Given the description of an element on the screen output the (x, y) to click on. 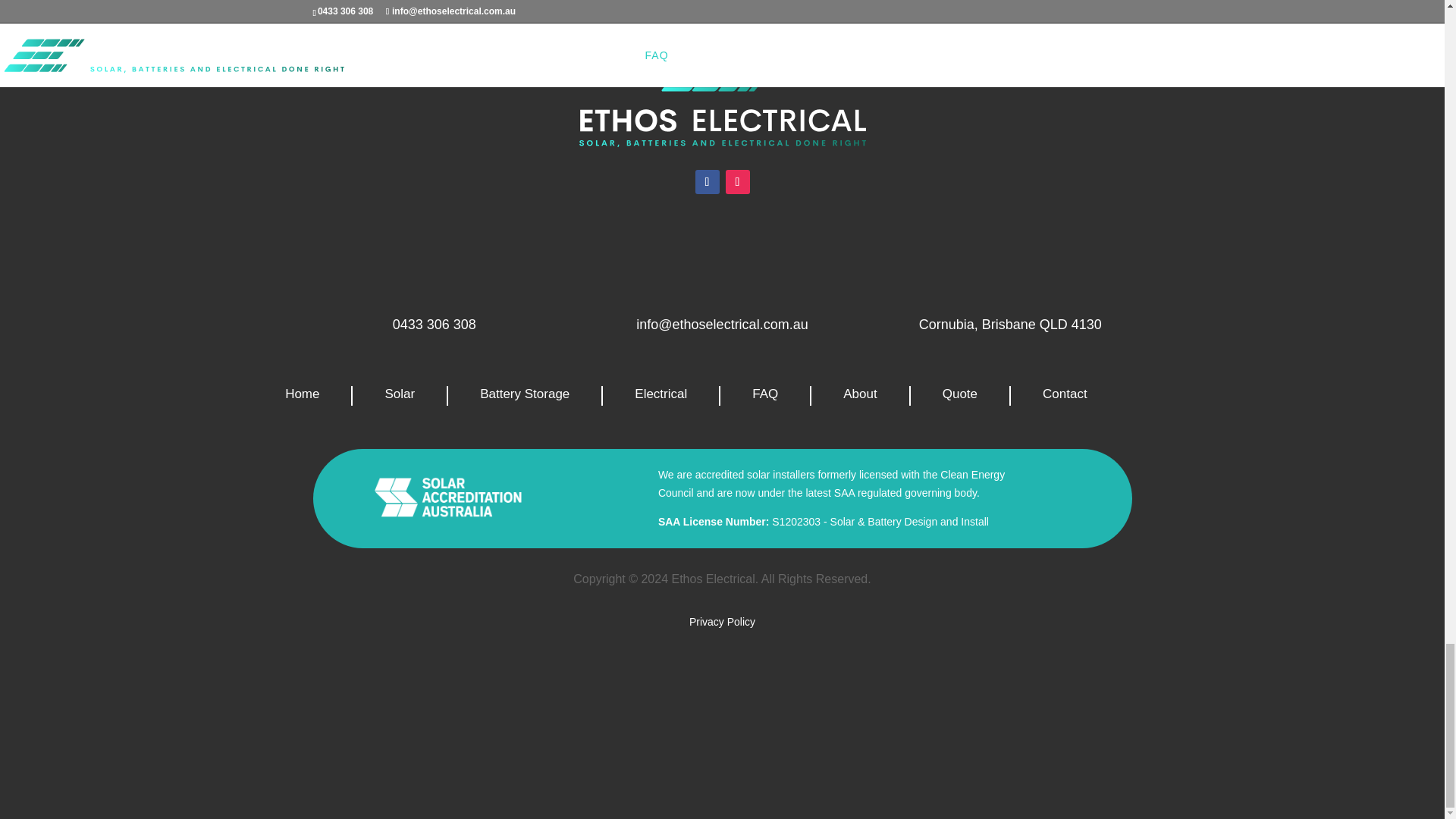
Privacy Policy (721, 621)
Contact (1064, 395)
Follow on Instagram (737, 181)
Battery Storage (524, 395)
Quote (959, 395)
Follow on Facebook (706, 181)
FAQ (765, 395)
New Logo Vertical White (722, 93)
Home (302, 395)
Solar (399, 395)
Electrical (660, 395)
Privacy Policy (721, 621)
About (859, 395)
